Given the description of an element on the screen output the (x, y) to click on. 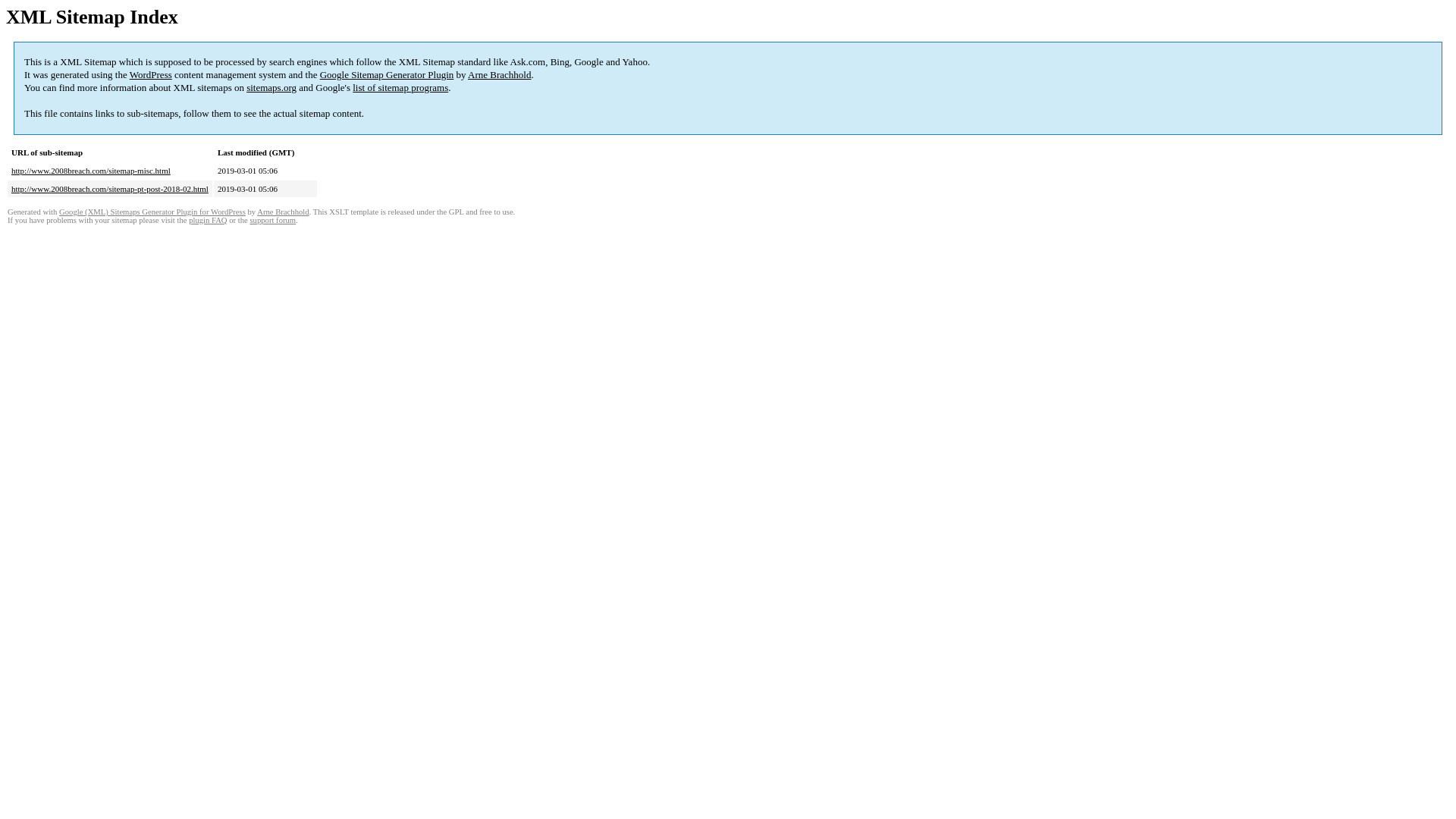
support forum Element type: text (272, 220)
list of sitemap programs Element type: text (400, 87)
plugin FAQ Element type: text (207, 220)
Google (XML) Sitemaps Generator Plugin for WordPress Element type: text (152, 211)
http://www.2008breach.com/sitemap-misc.html Element type: text (90, 170)
sitemaps.org Element type: text (271, 87)
WordPress Element type: text (150, 74)
Arne Brachhold Element type: text (282, 211)
Arne Brachhold Element type: text (498, 74)
http://www.2008breach.com/sitemap-pt-post-2018-02.html Element type: text (109, 188)
Google Sitemap Generator Plugin Element type: text (387, 74)
